Given the description of an element on the screen output the (x, y) to click on. 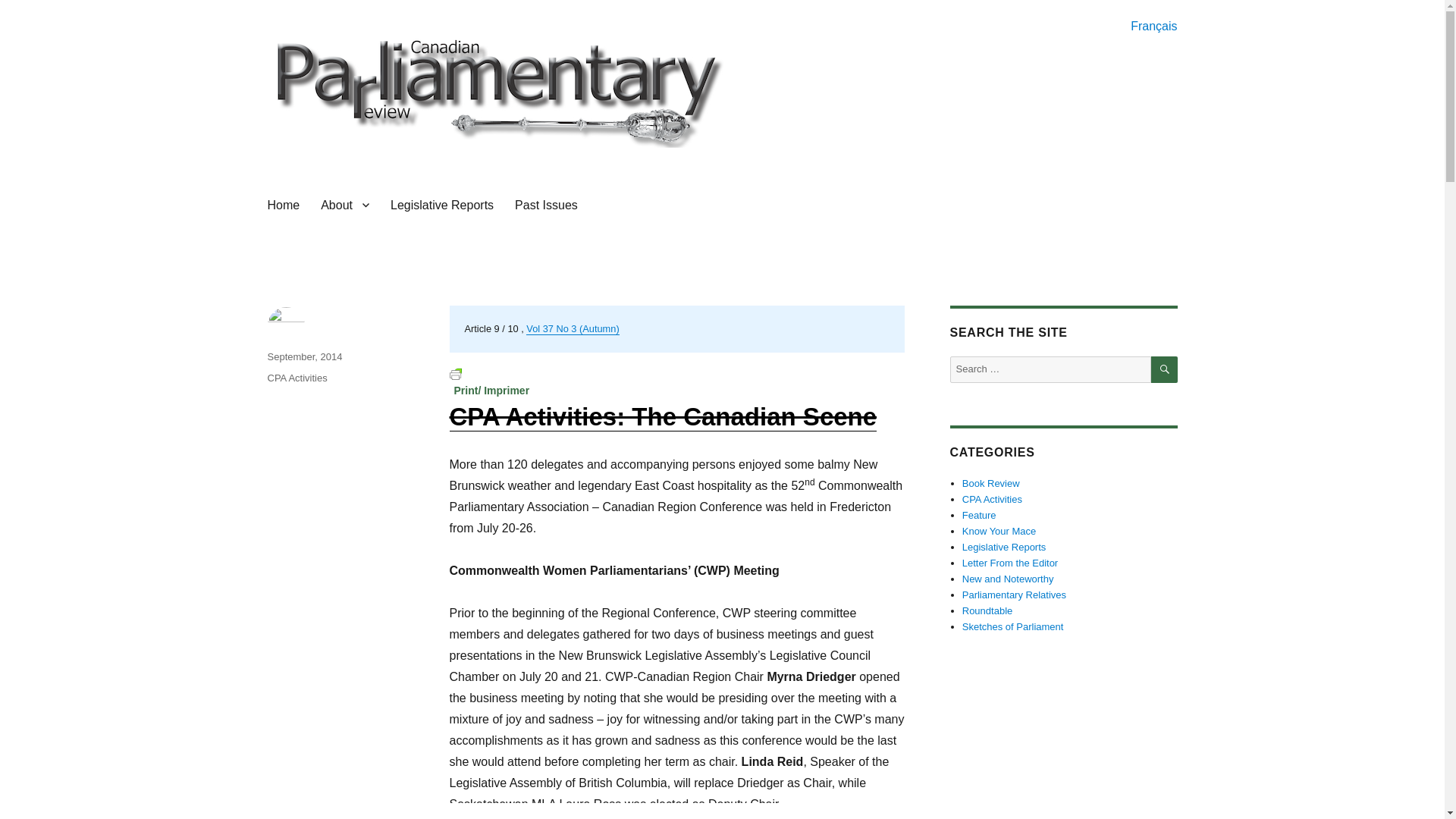
Legislative Reports (441, 204)
Letter From the Editor (1010, 562)
CPA Activities: The Canadian Scene (662, 416)
Know Your Mace (999, 531)
Feature (978, 514)
CPA Activities (992, 499)
Legislative Reports (1004, 546)
Past Issues (545, 204)
CPA Activities (296, 378)
Home (283, 204)
September, 2014 (304, 356)
SEARCH (1164, 369)
Sketches of Parliament (1013, 626)
About (345, 204)
New and Noteworthy (1008, 578)
